Given the description of an element on the screen output the (x, y) to click on. 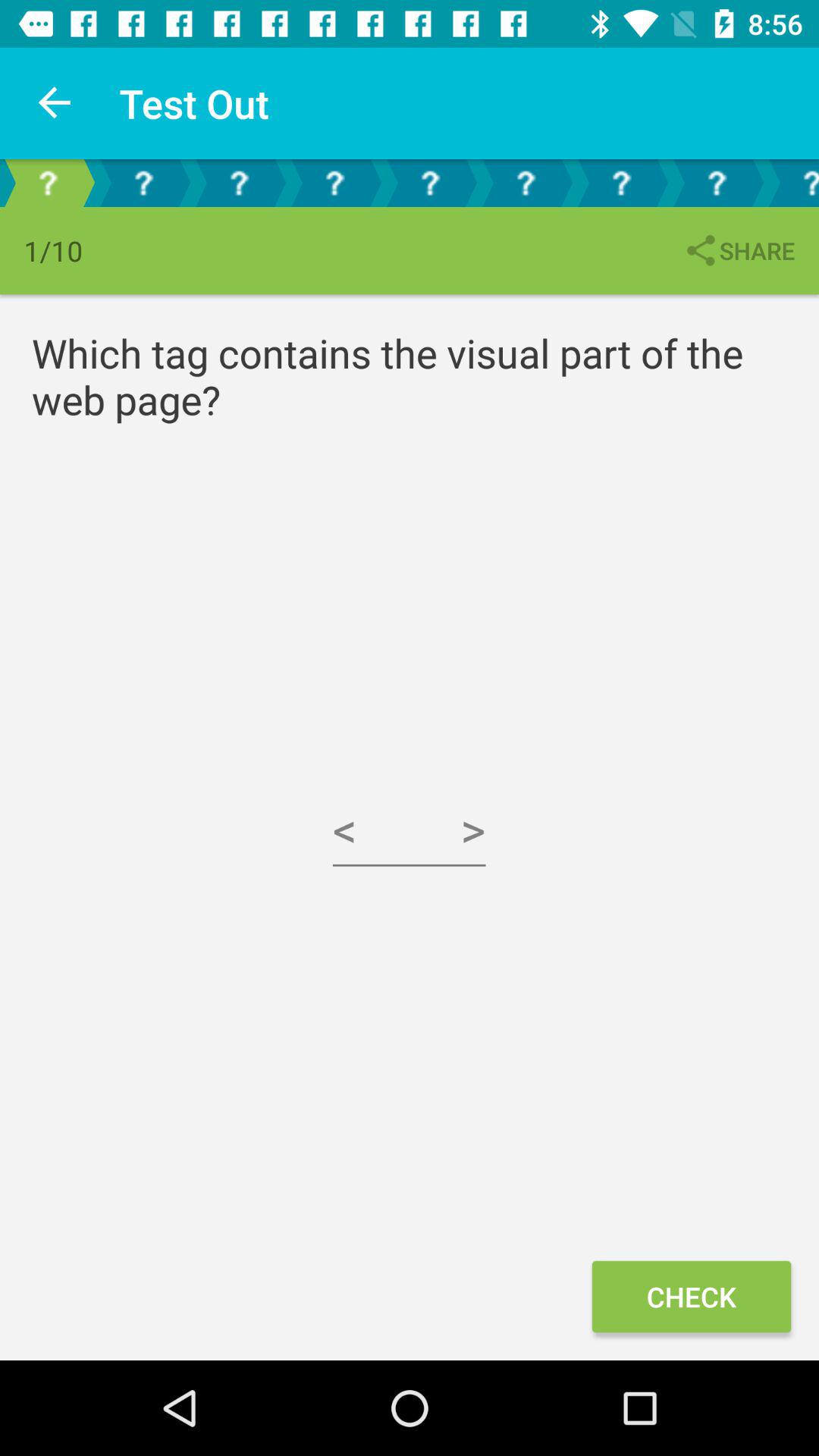
select the check at the bottom right corner (691, 1296)
